Given the description of an element on the screen output the (x, y) to click on. 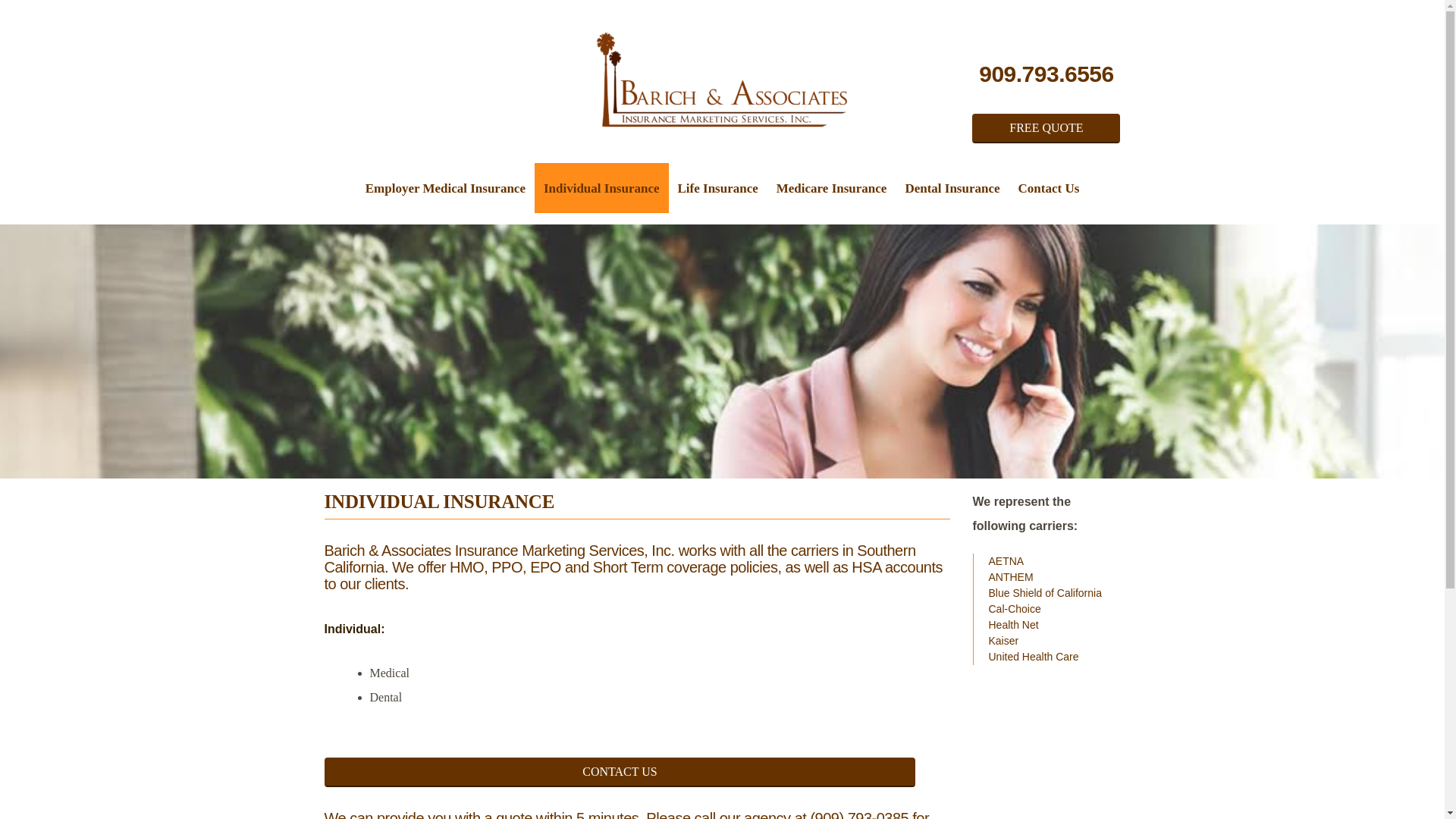
CONTACT US (619, 771)
Medicare Insurance (831, 187)
Contact Us (1049, 187)
Individual Insurance (601, 187)
Life Insurance (717, 187)
FREE QUOTE (1045, 128)
Employer Medical Insurance (445, 187)
Dental Insurance (952, 187)
